Given the description of an element on the screen output the (x, y) to click on. 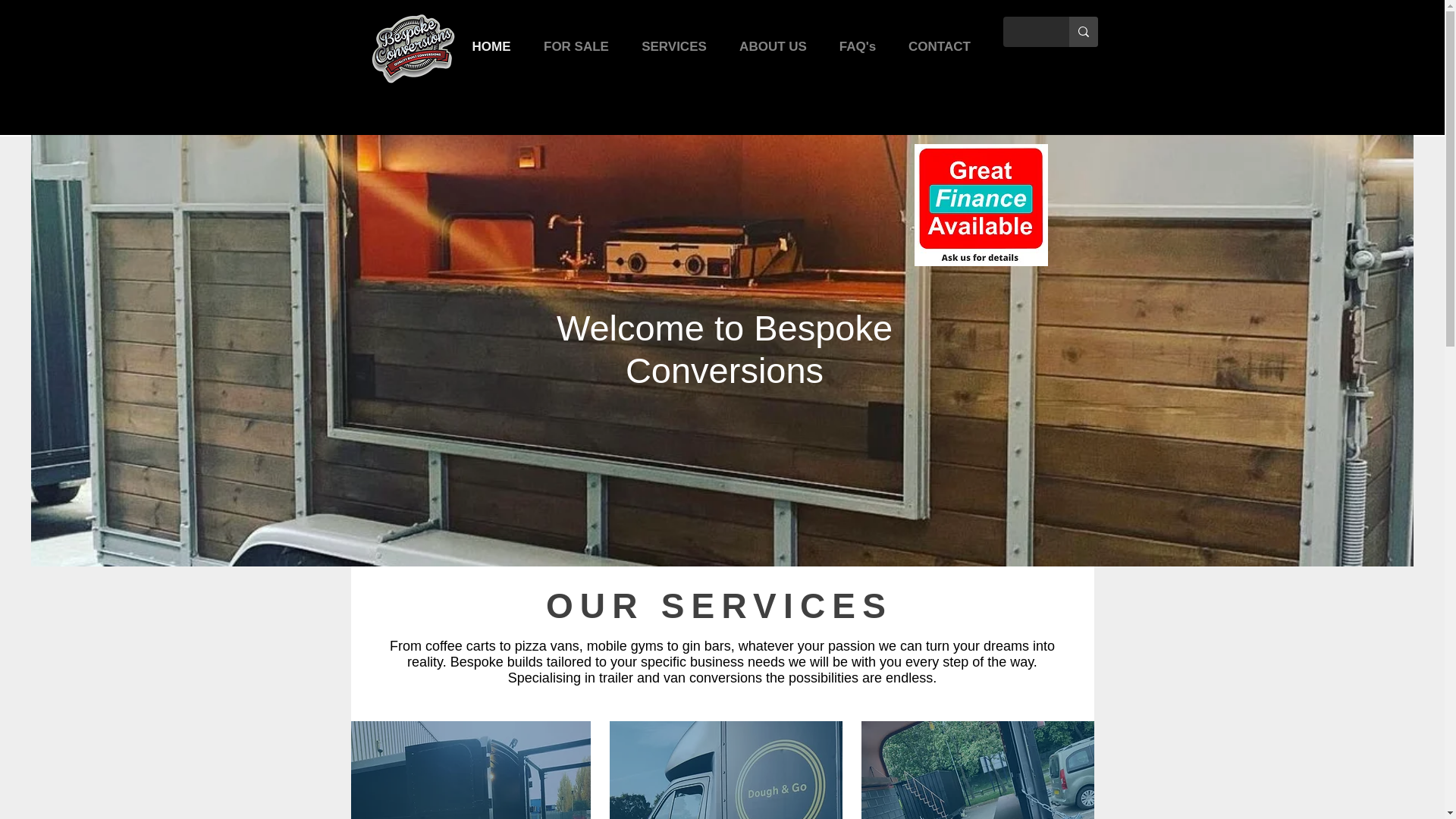
FAQ's (858, 46)
CONTACT (939, 46)
HOME (490, 46)
